Given the description of an element on the screen output the (x, y) to click on. 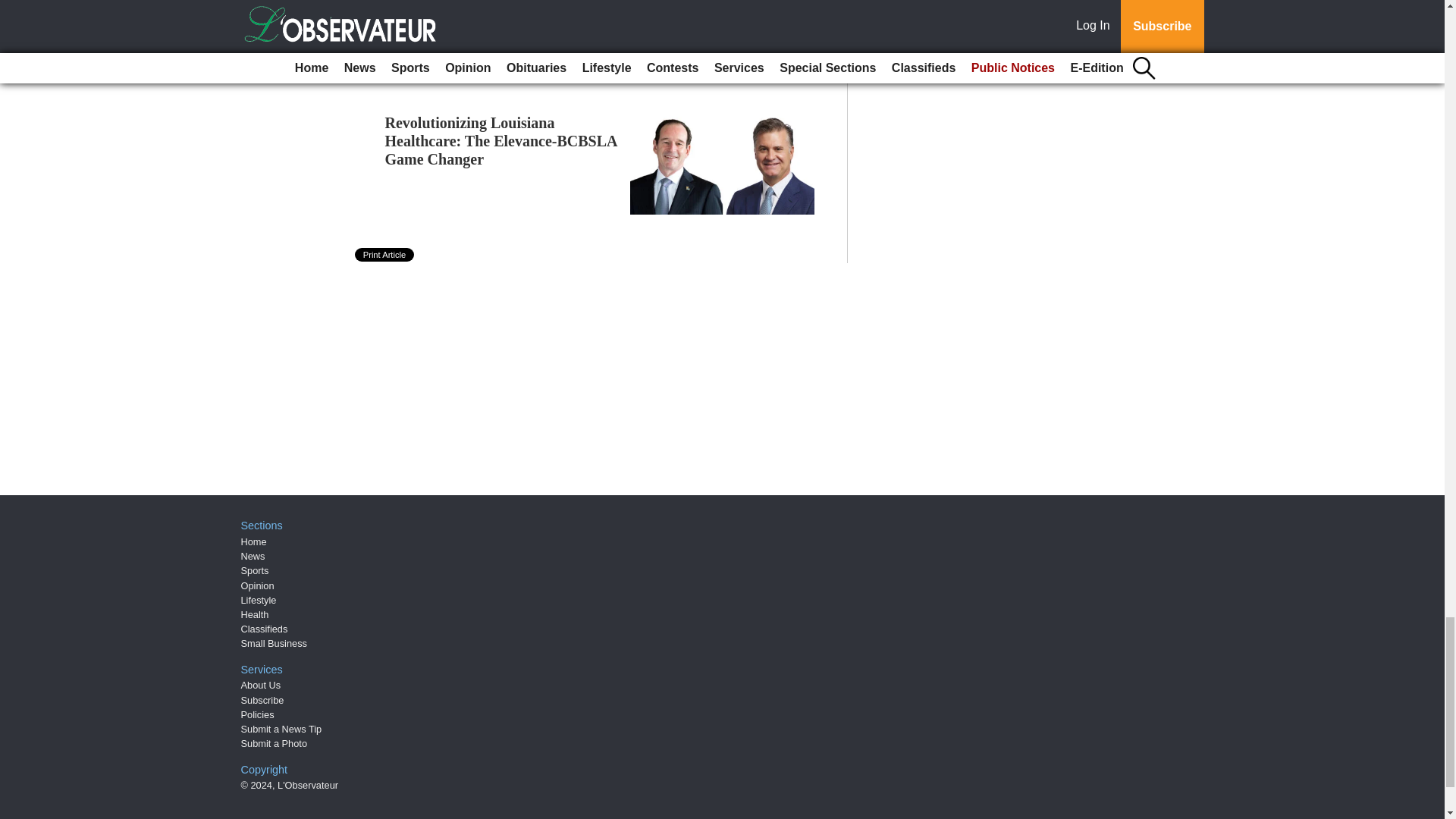
Lifestyle (258, 600)
Opinion (258, 585)
Home (253, 541)
News (252, 555)
Sports (255, 570)
Print Article (384, 254)
